Given the description of an element on the screen output the (x, y) to click on. 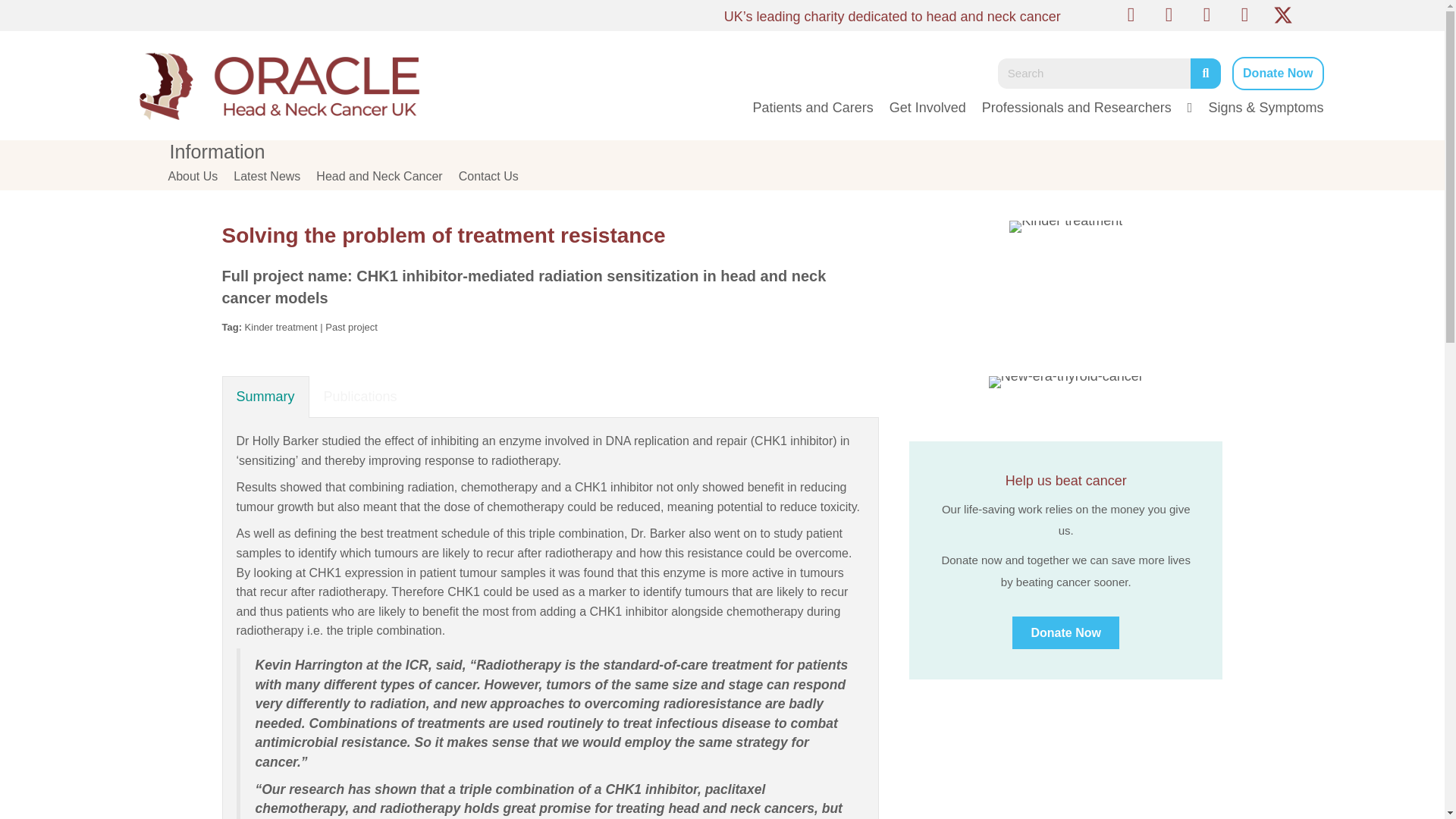
New-era-thyroid-cancer (1065, 381)
Facebook (1131, 15)
Professionals and Researchers (1069, 106)
Icon-kinder-treatment (1065, 226)
Search (1094, 73)
Get Involved (920, 106)
Patients and Carers (805, 106)
Instagram (1245, 15)
LinkedIn (1169, 15)
Donate Now (1277, 72)
YouTube (1207, 15)
